Given the description of an element on the screen output the (x, y) to click on. 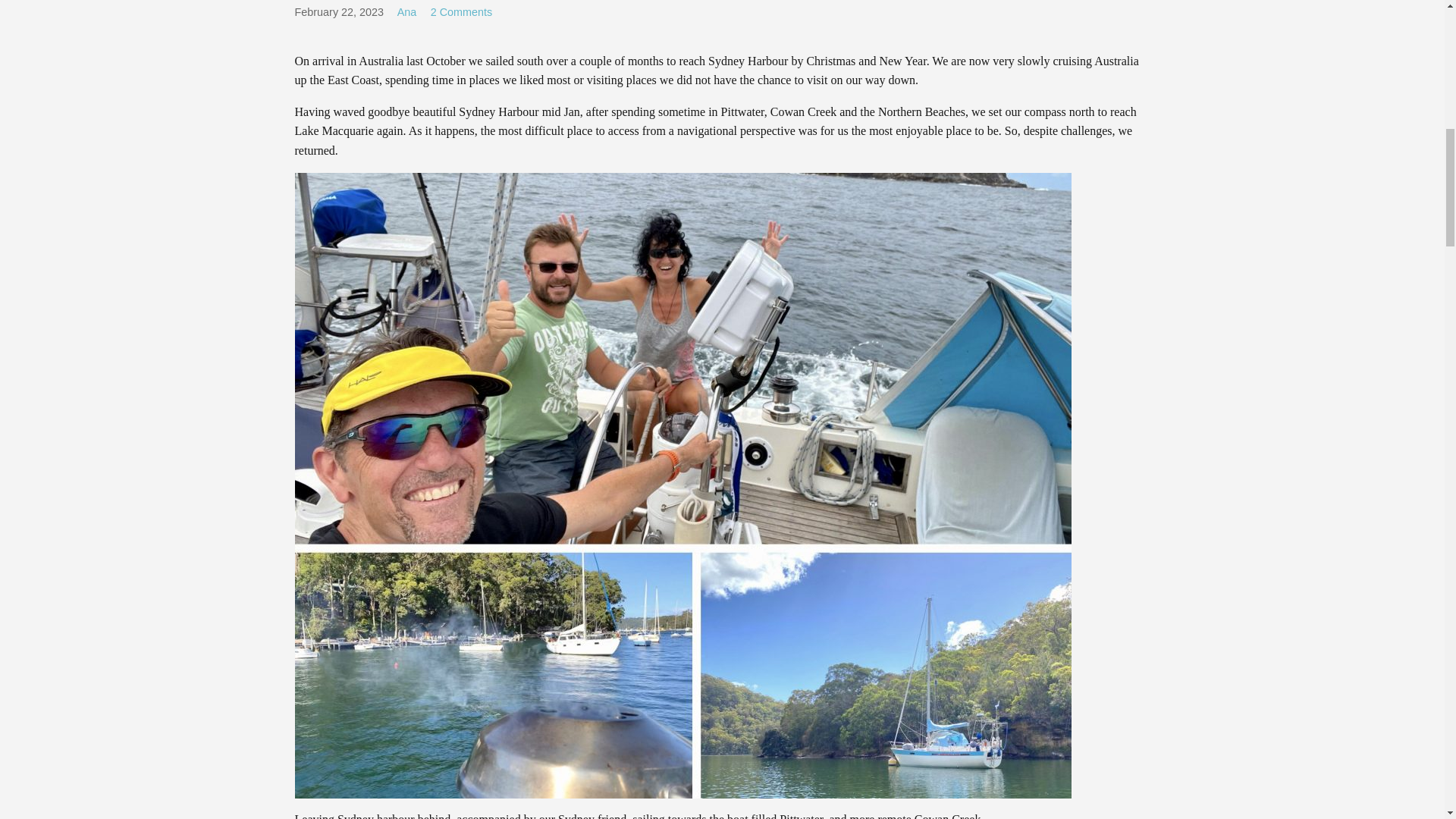
2 Comments (461, 11)
Posts by Ana (406, 11)
Ana (406, 11)
